Given the description of an element on the screen output the (x, y) to click on. 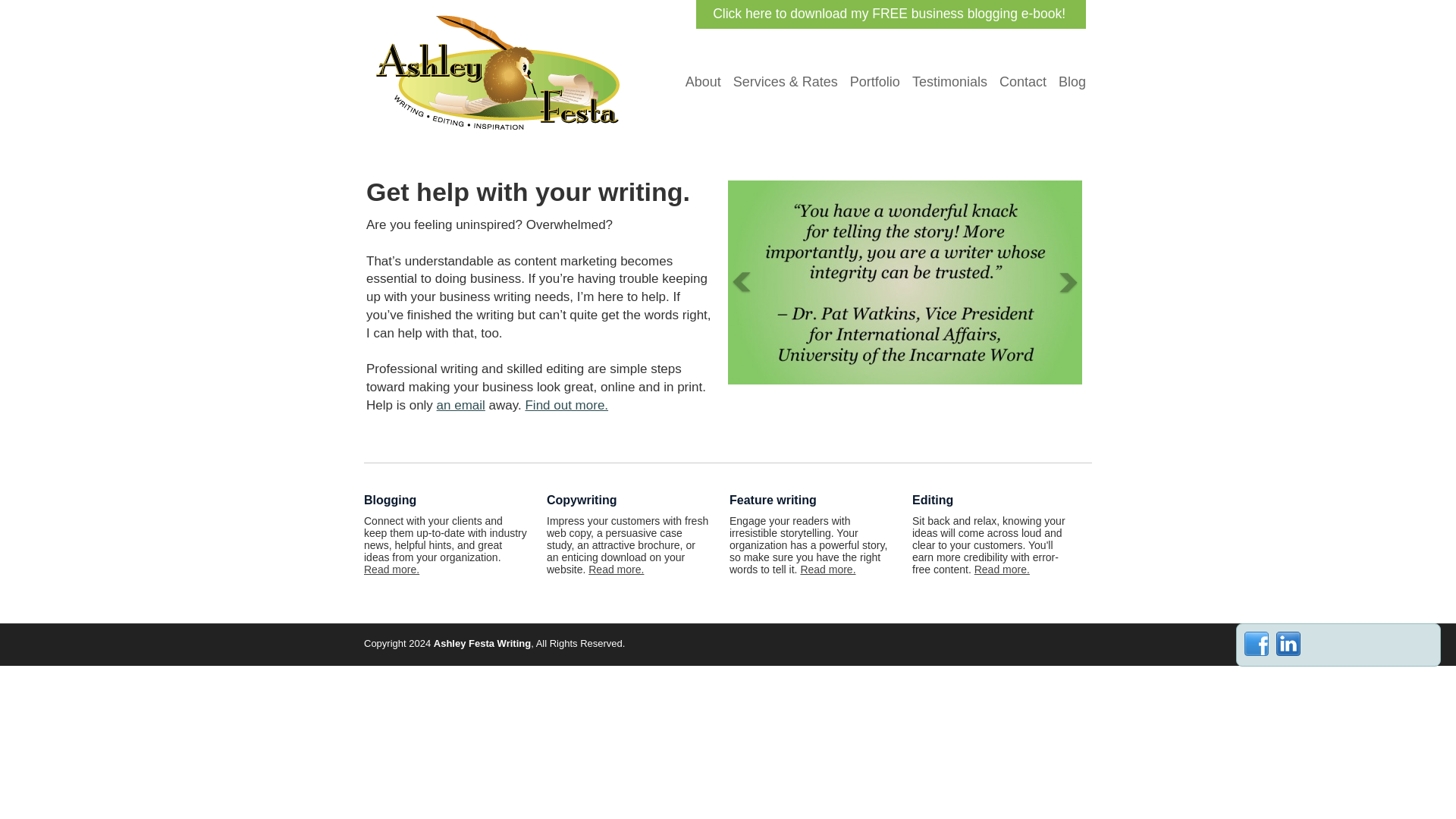
Click here to download my FREE business blogging e-book!  (890, 13)
About (702, 81)
Read more. (1001, 569)
Read more. (827, 569)
Read more. (615, 569)
Find out more. (566, 405)
next (1068, 282)
Portfolio (874, 81)
Blog (1072, 81)
Ashley Festa Writing (499, 16)
Contact (1022, 81)
Testimonials (948, 81)
an email (460, 405)
previous (741, 282)
Read more. (391, 569)
